Given the description of an element on the screen output the (x, y) to click on. 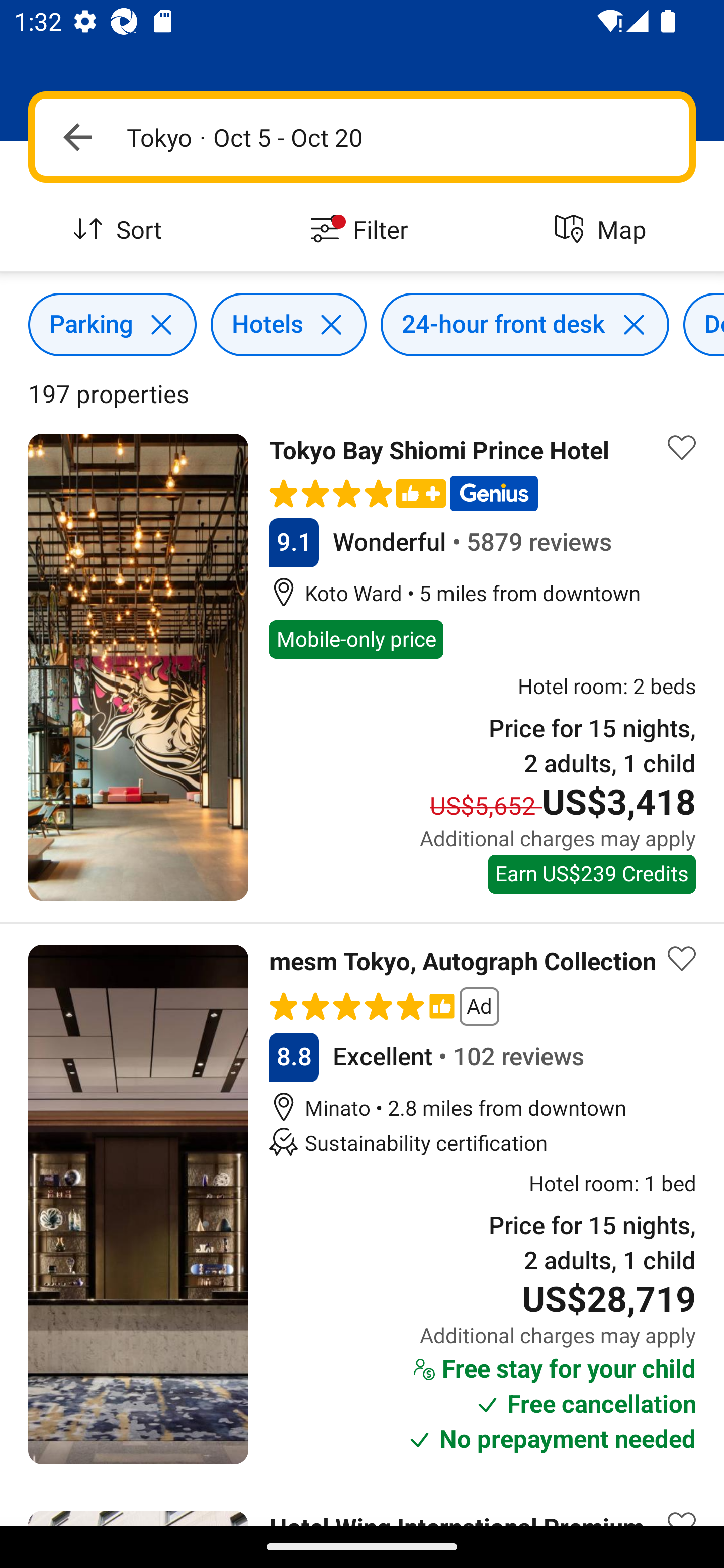
Navigate up Tokyo · Oct 5 - Oct 20 (362, 136)
Navigate up (77, 136)
Sort (120, 230)
Filter (361, 230)
Map (603, 230)
Save property to list (681, 447)
Save property to list (681, 958)
